Given the description of an element on the screen output the (x, y) to click on. 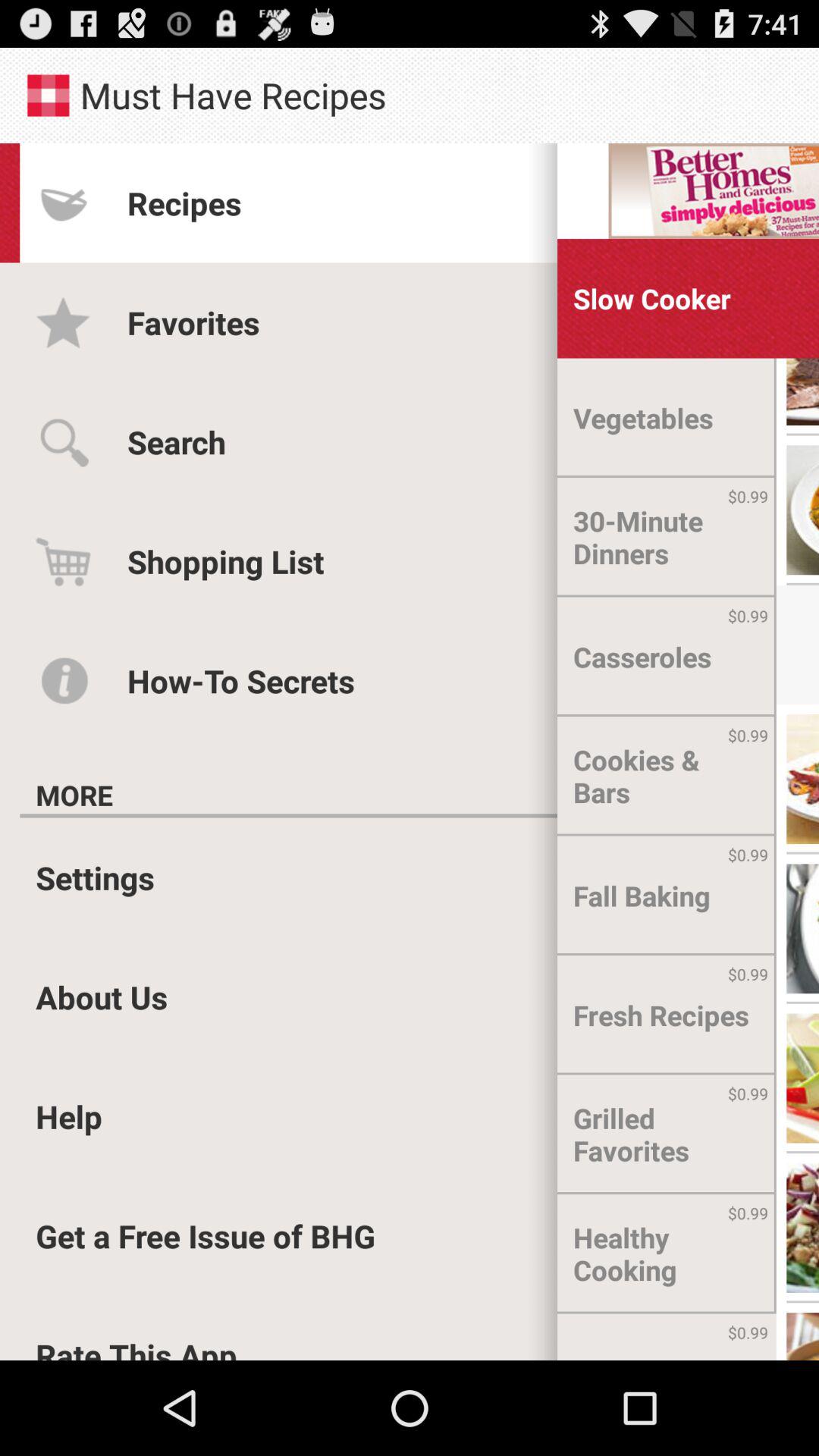
choose icon next to favorites (643, 417)
